Given the description of an element on the screen output the (x, y) to click on. 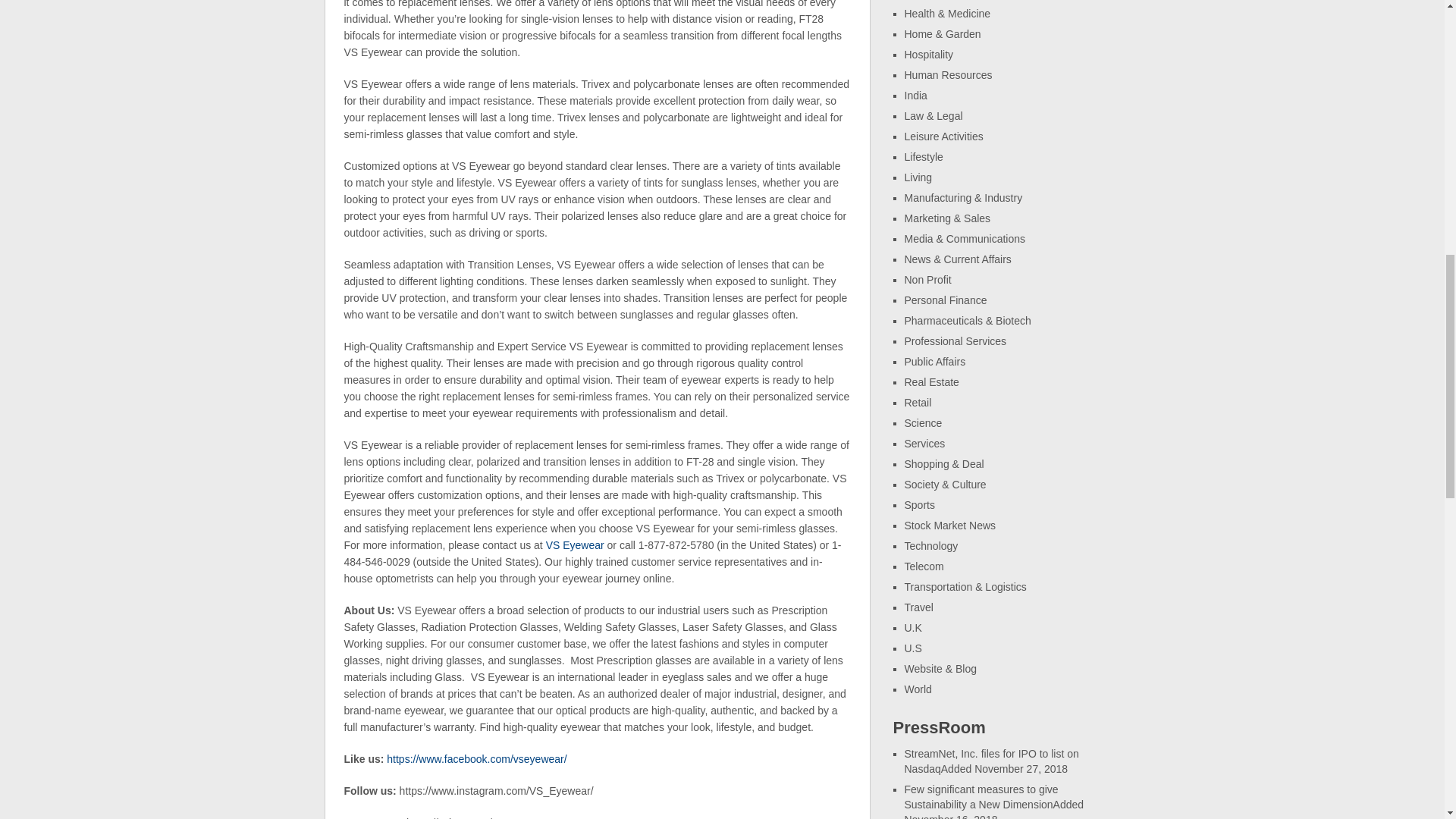
VS Eyewear (575, 544)
